Given the description of an element on the screen output the (x, y) to click on. 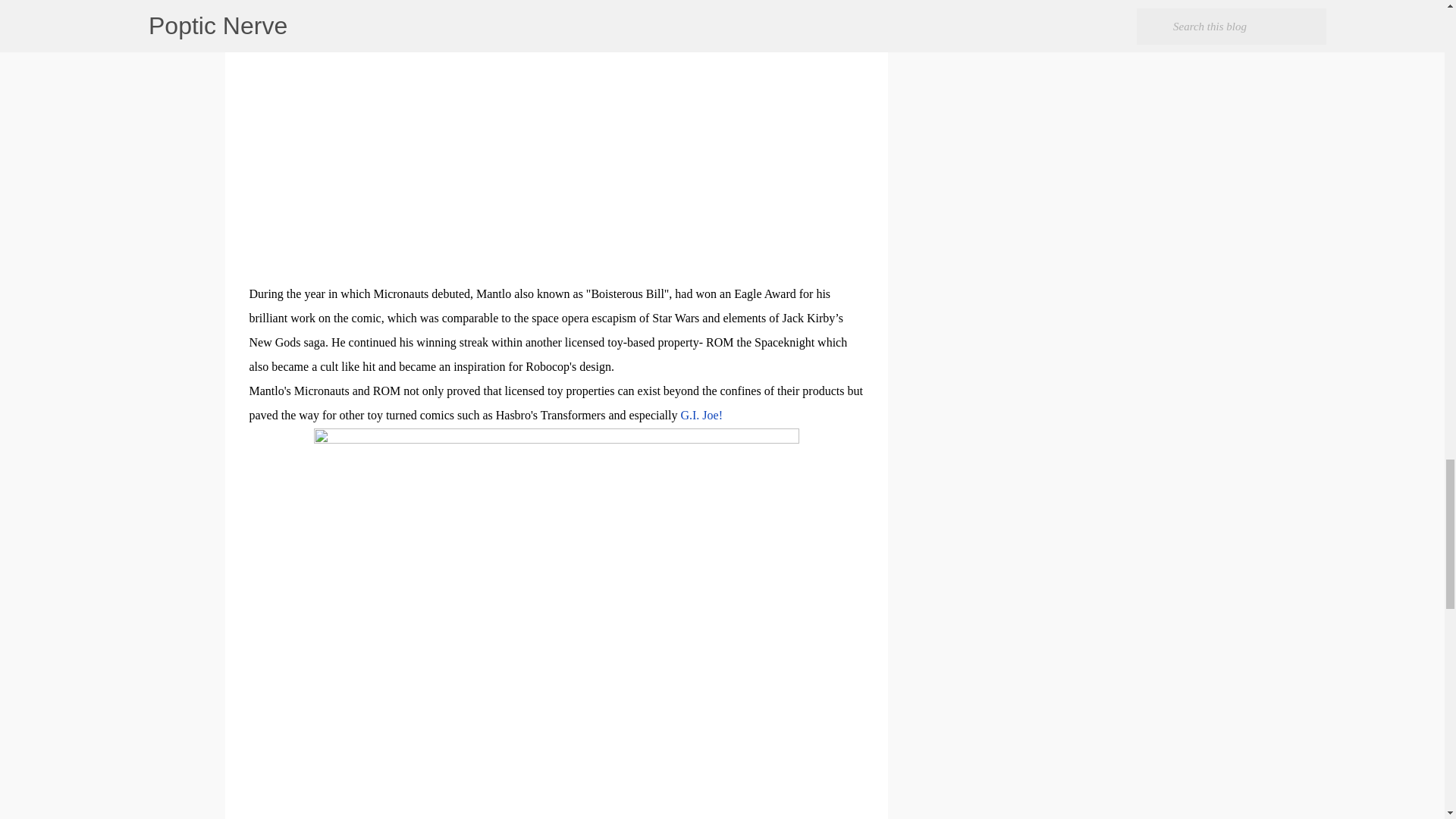
G.I. Joe! (700, 414)
